Given the description of an element on the screen output the (x, y) to click on. 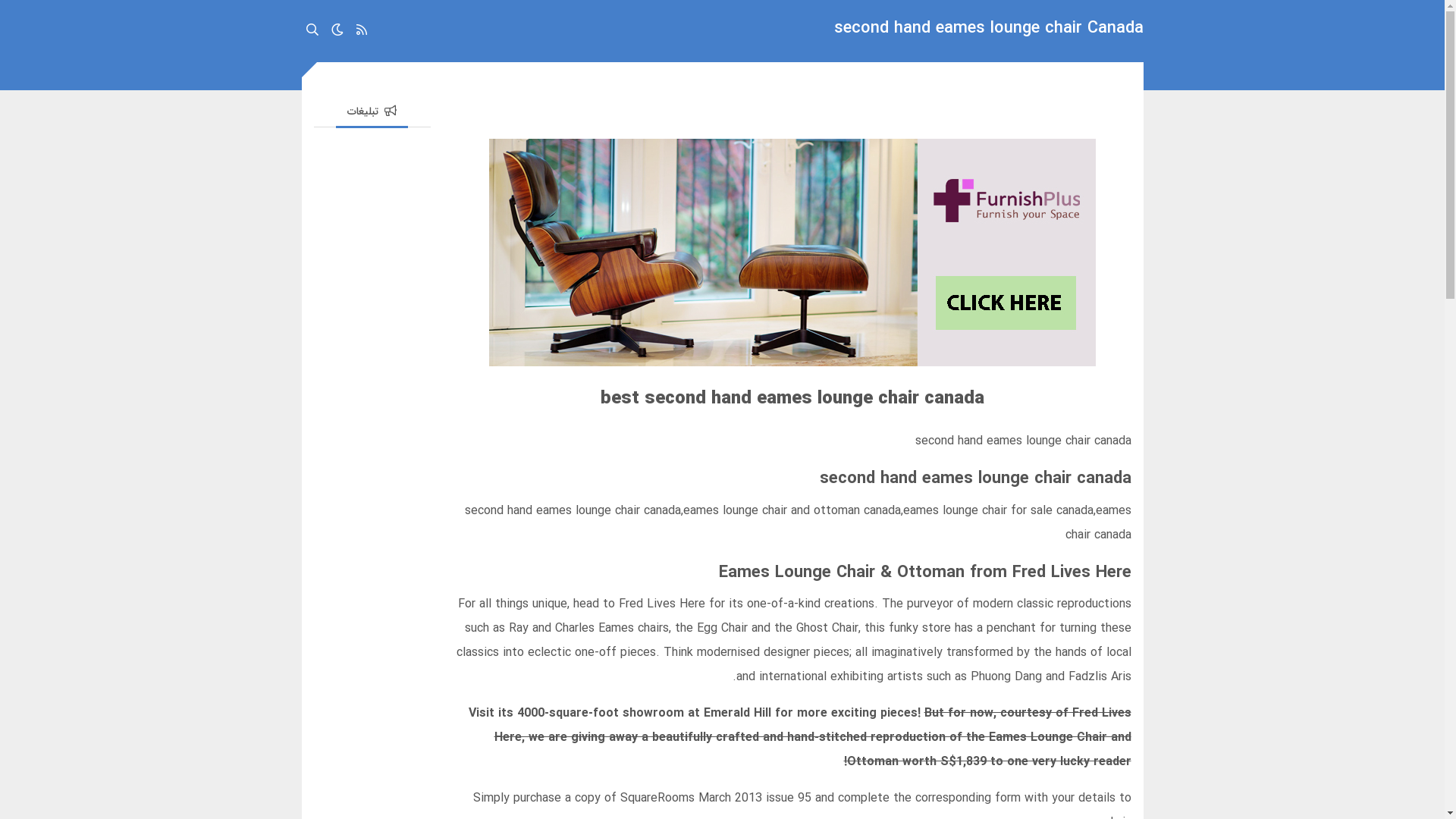
second hand eames lounge chair Canada Element type: text (988, 30)
